Given the description of an element on the screen output the (x, y) to click on. 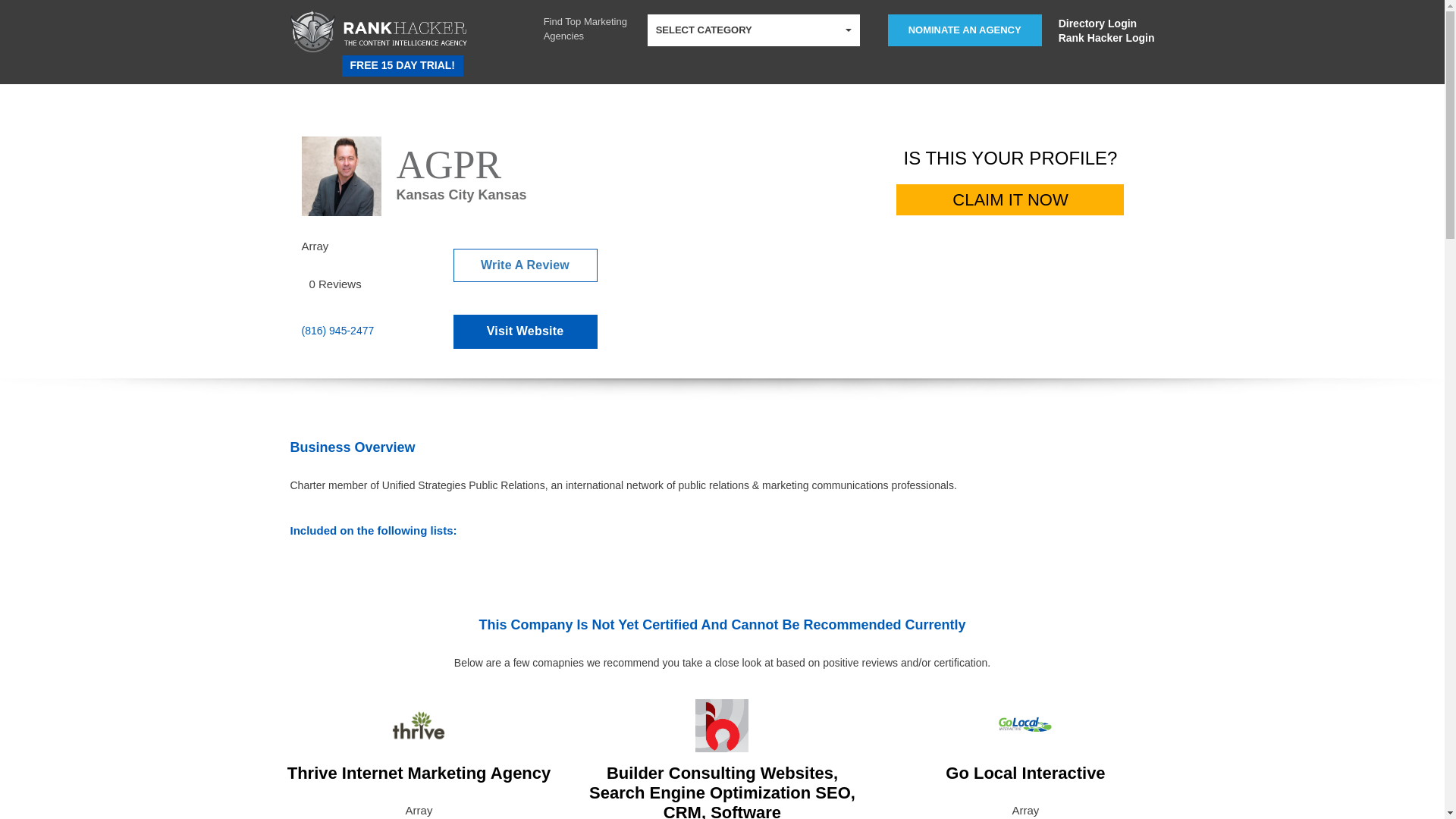
Visit Website (524, 331)
Rank Hacker Login (1106, 37)
Write A Review (524, 265)
CLAIM IT NOW (1010, 199)
SELECT CATEGORY (753, 29)
Rank Hacker Directory (342, 61)
FREE 15 DAY TRIAL! (401, 65)
Directory Login (1106, 23)
NOMINATE AN AGENCY (965, 29)
